Given the description of an element on the screen output the (x, y) to click on. 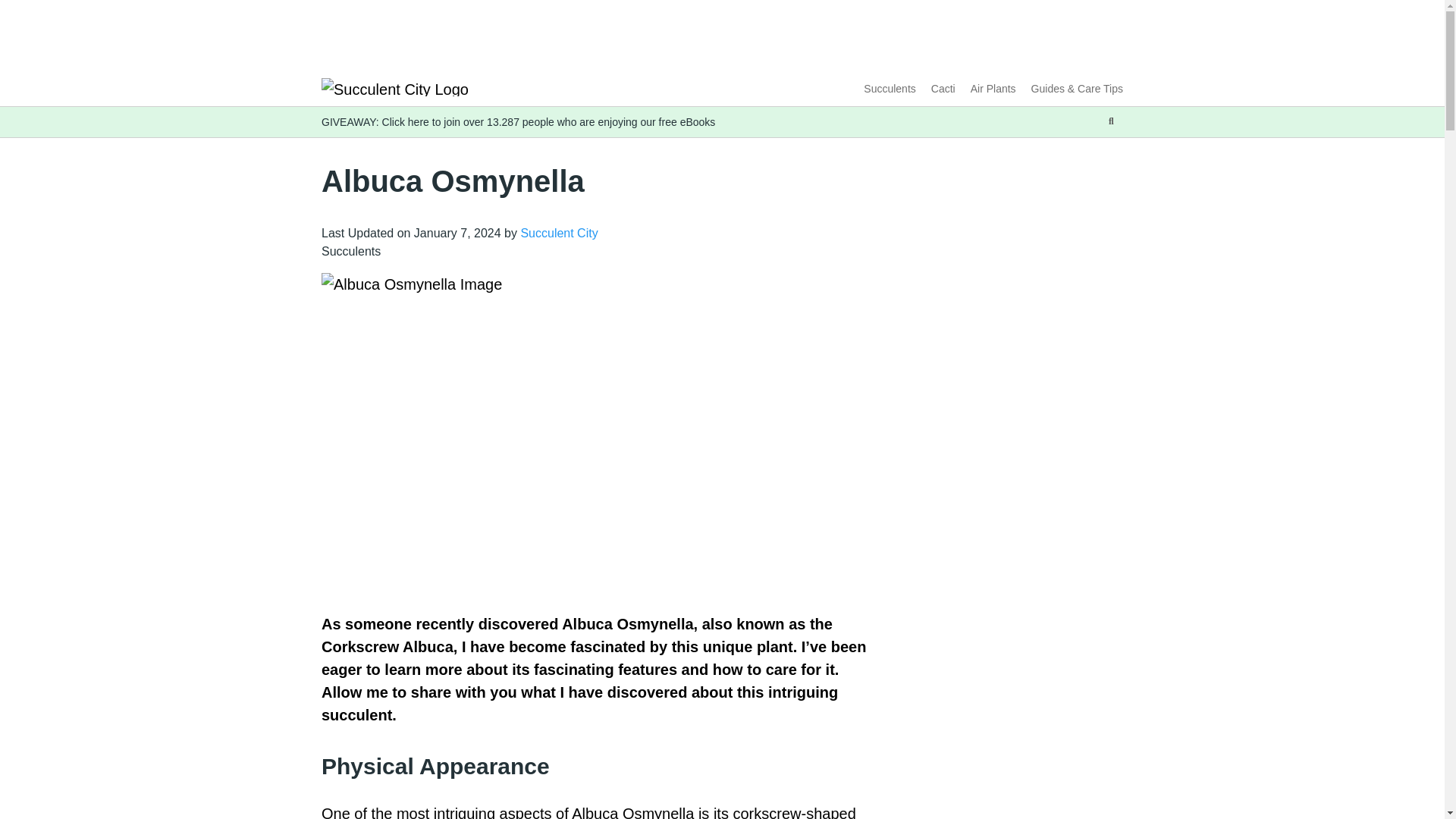
Succulent City (557, 232)
Cacti (943, 89)
Air Plants (993, 89)
Succulents (889, 89)
